Given the description of an element on the screen output the (x, y) to click on. 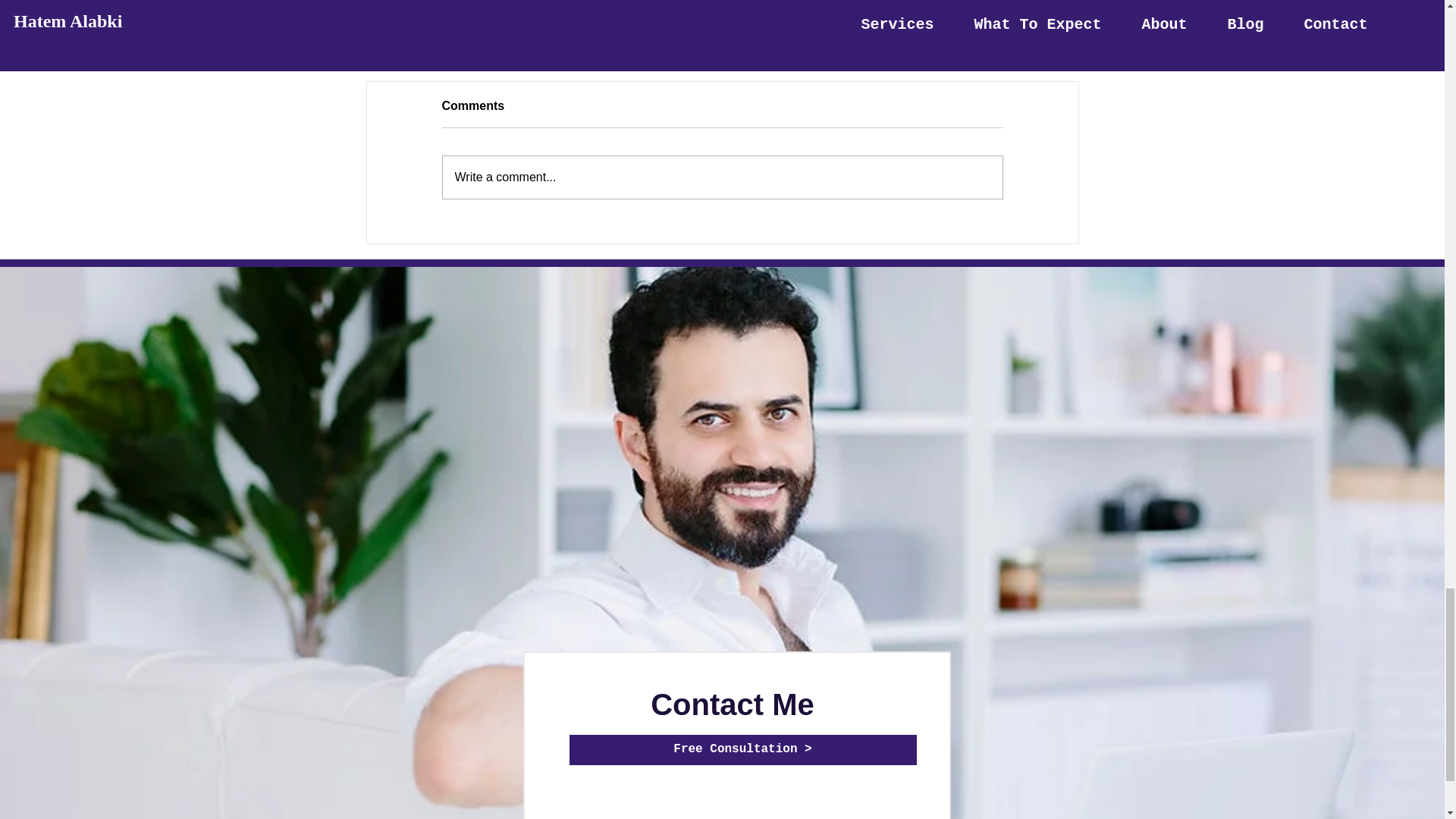
0 (681, 27)
Post not marked as liked (1050, 27)
Contact Me (731, 704)
Write a comment... (722, 177)
Post not marked as liked (558, 27)
Post not marked as liked (804, 27)
0 (435, 27)
0 (926, 27)
